Given the description of an element on the screen output the (x, y) to click on. 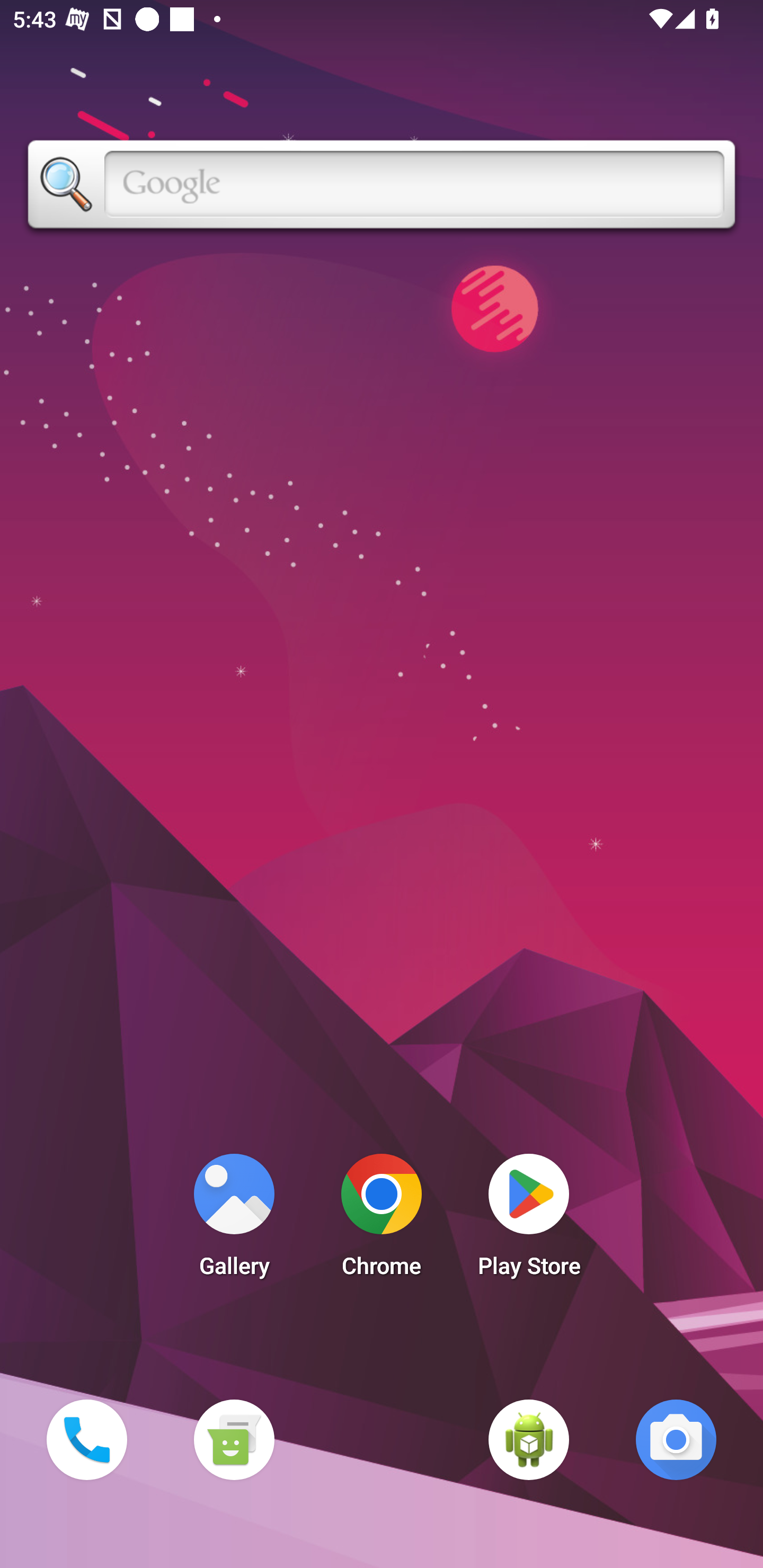
Gallery (233, 1220)
Chrome (381, 1220)
Play Store (528, 1220)
Phone (86, 1439)
Messaging (233, 1439)
WebView Browser Tester (528, 1439)
Camera (676, 1439)
